Given the description of an element on the screen output the (x, y) to click on. 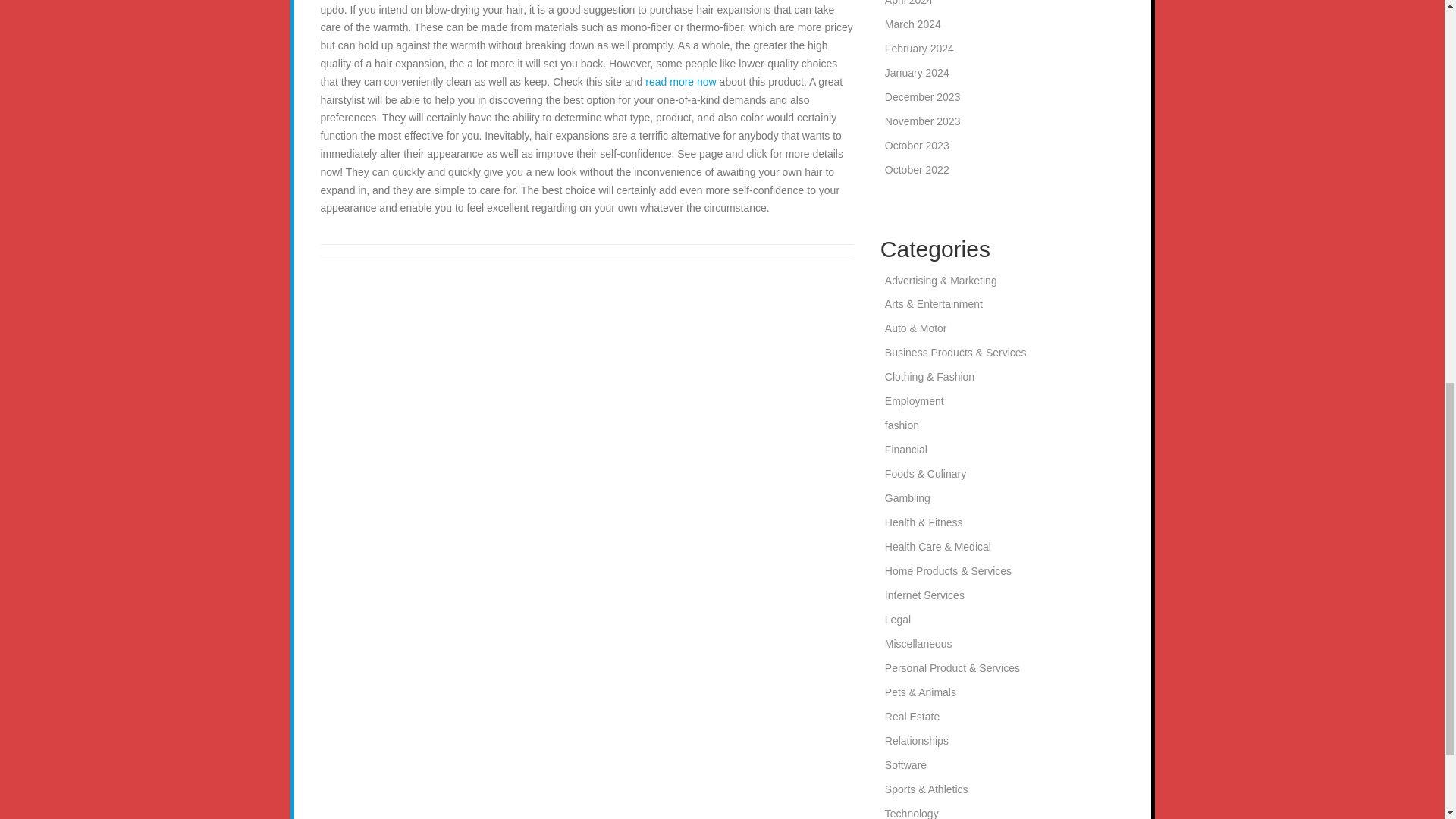
Financial (906, 449)
October 2023 (917, 145)
December 2023 (922, 96)
Internet Services (924, 594)
January 2024 (917, 72)
November 2023 (922, 121)
Employment (914, 400)
Gambling (907, 498)
March 2024 (912, 24)
Legal (898, 619)
